Given the description of an element on the screen output the (x, y) to click on. 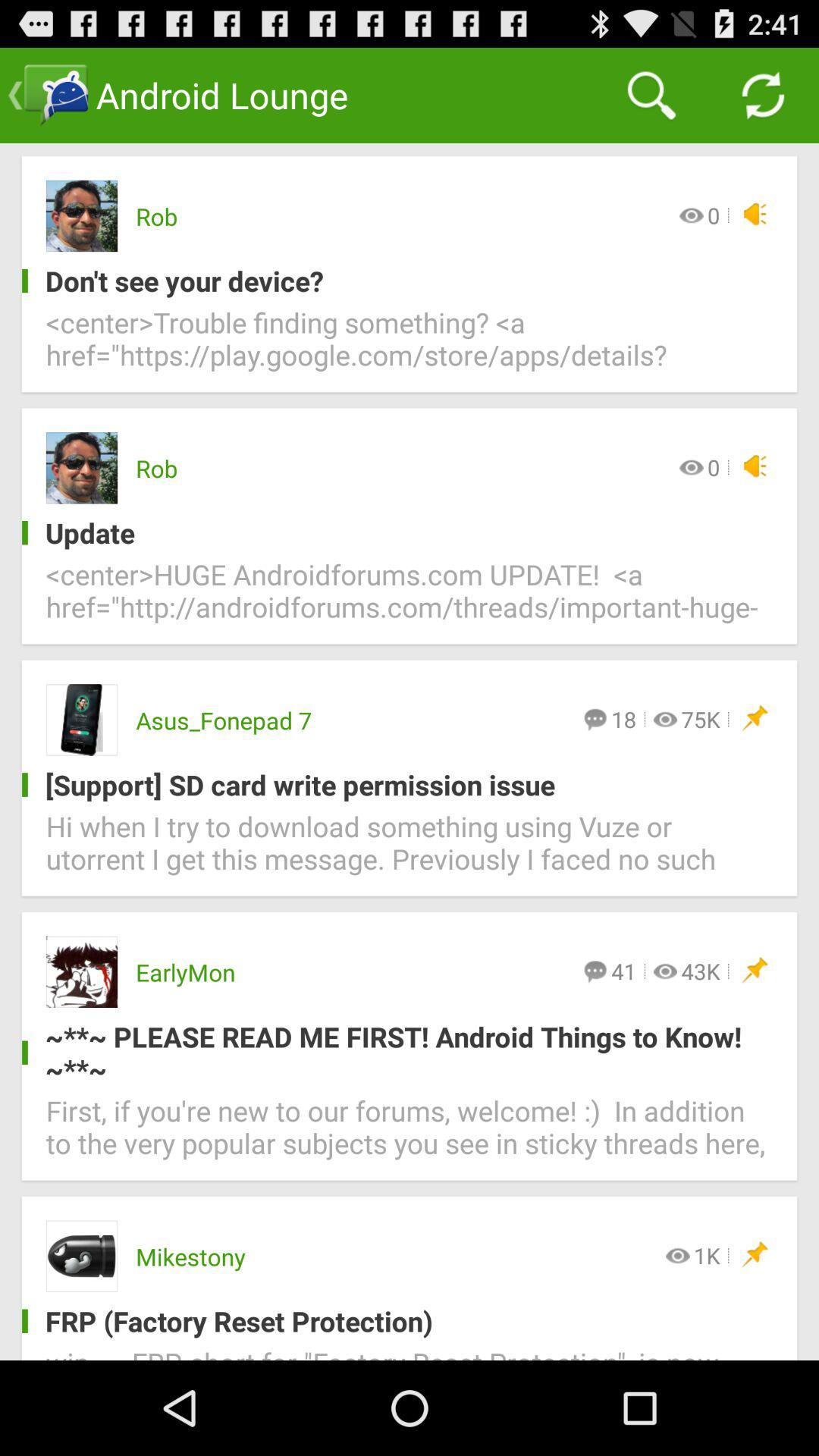
click item below support sd card item (409, 851)
